Given the description of an element on the screen output the (x, y) to click on. 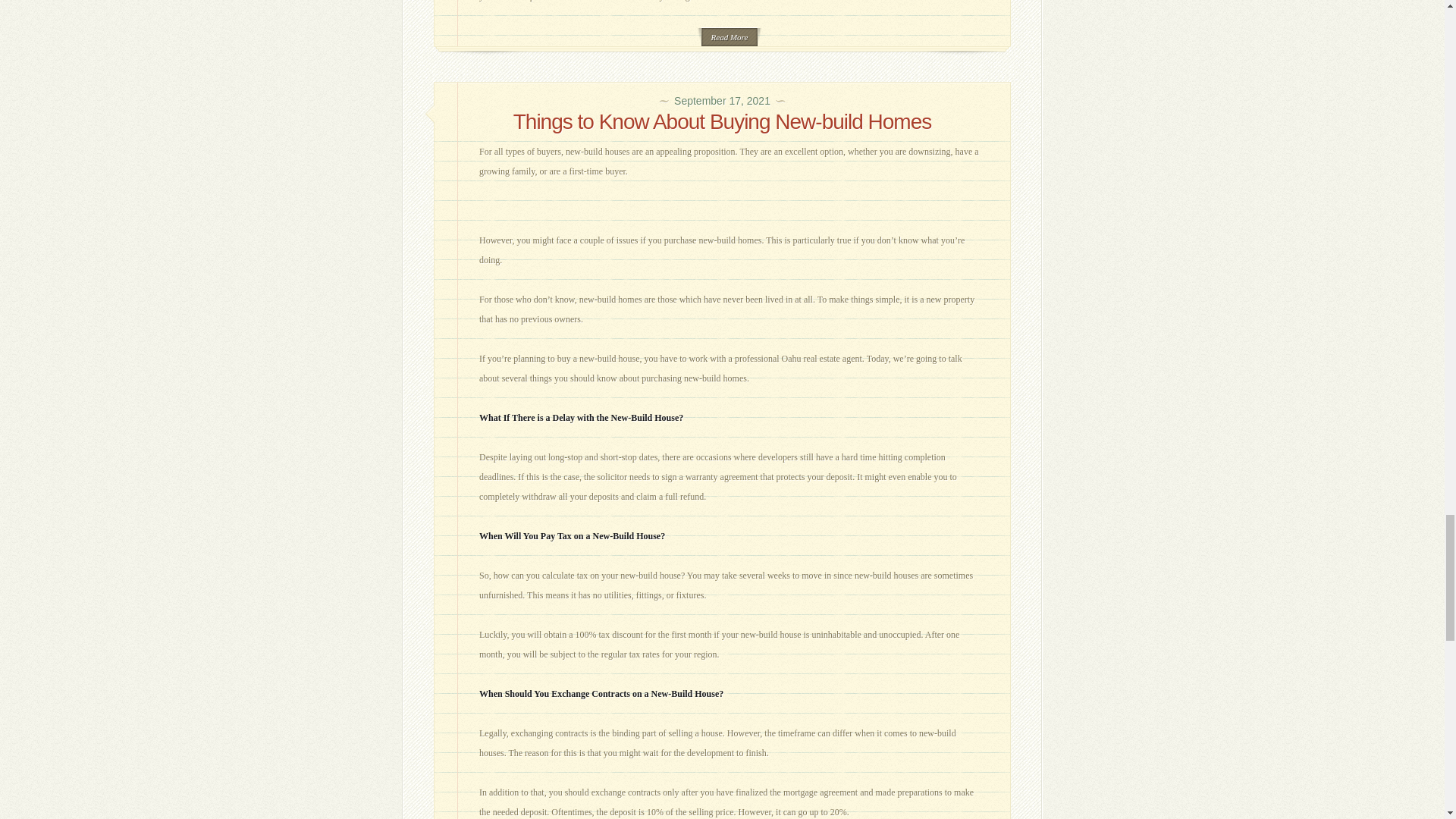
Read More (729, 36)
Things to Know About Buying New-build Homes (722, 121)
